Given the description of an element on the screen output the (x, y) to click on. 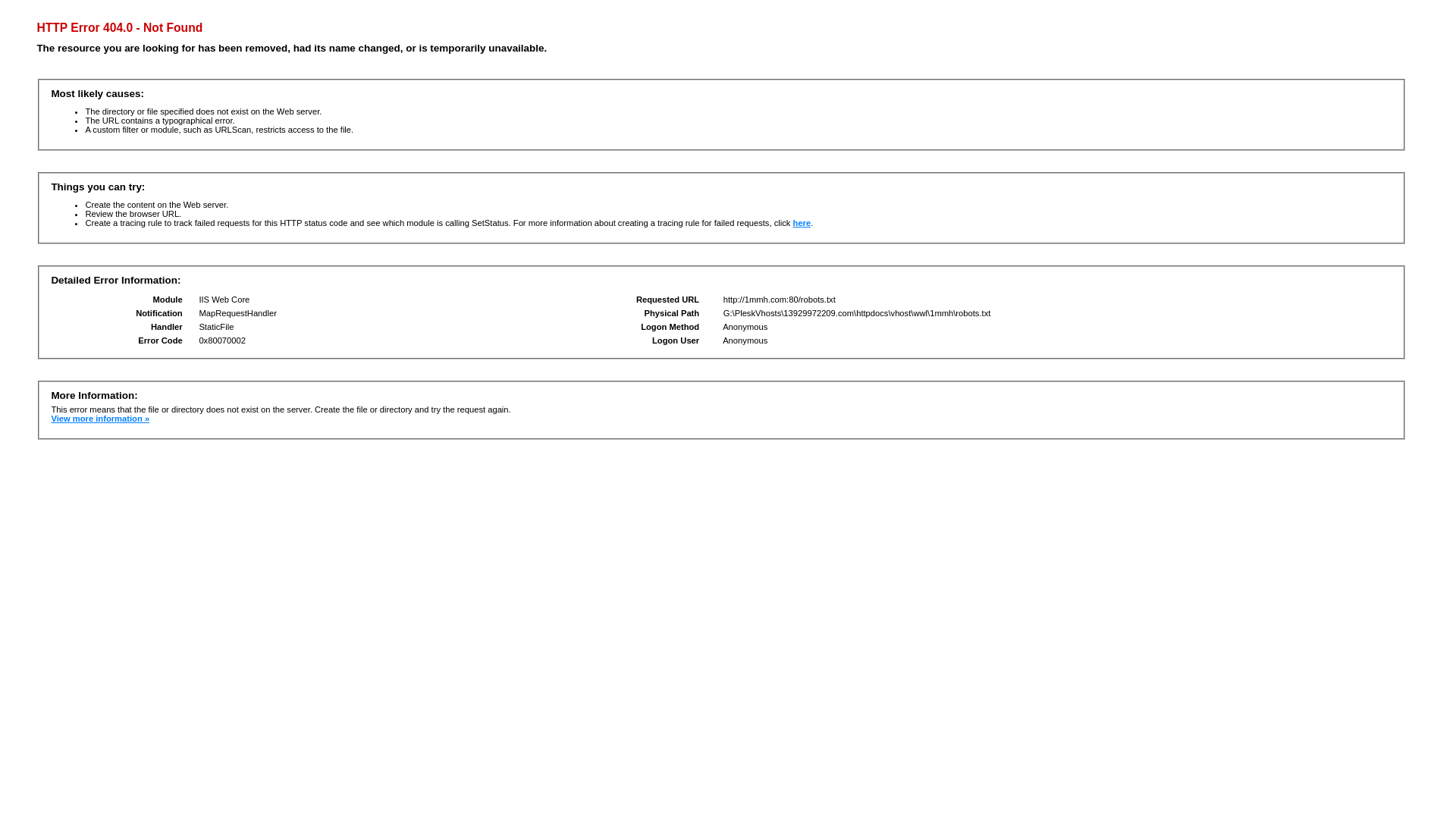
here Element type: text (802, 222)
